Given the description of an element on the screen output the (x, y) to click on. 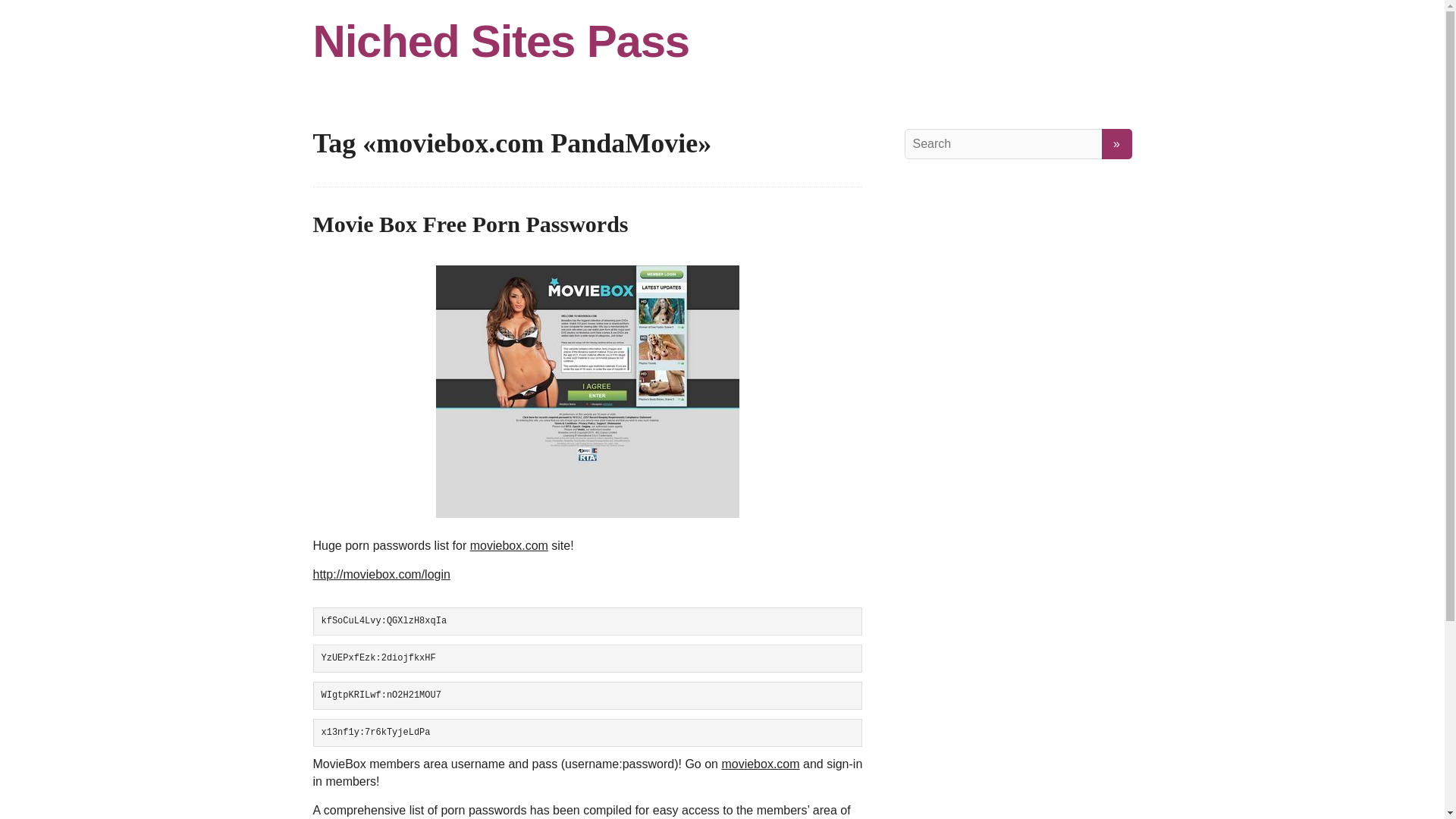
Niched Sites Pass (722, 41)
moviebox.com (759, 763)
moviebox.com (509, 545)
Niched Sites Pass (722, 41)
Movie Box (587, 391)
Movie Box Free Porn Passwords (470, 223)
Movie Box Free Porn Passwords (470, 223)
